Given the description of an element on the screen output the (x, y) to click on. 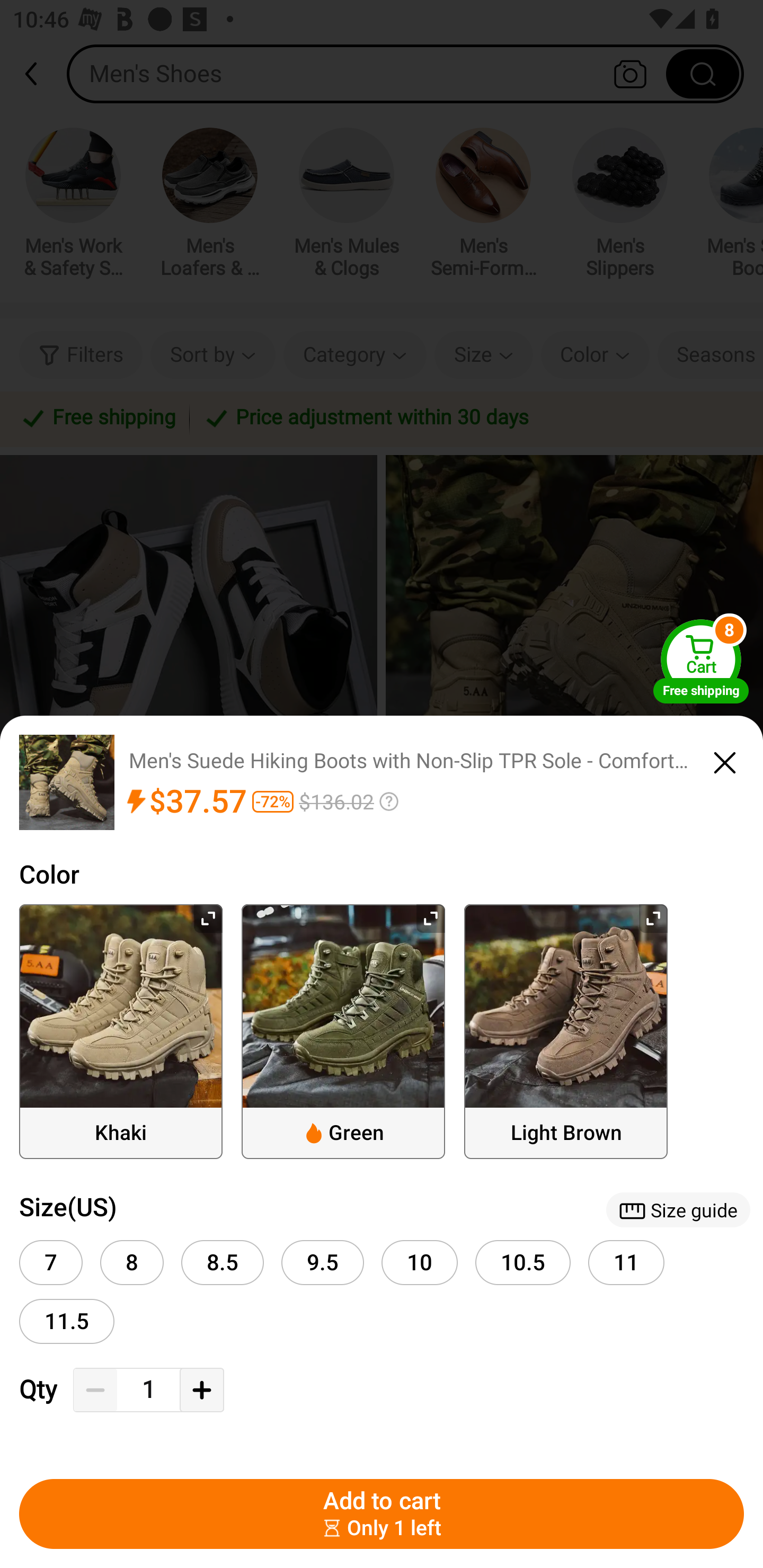
Cart Free shipping Cart (701, 660)
close (724, 760)
Khaki (120, 1031)
Green ￼Green (342, 1031)
Light Brown (565, 1031)
￼Size guide (677, 1209)
 7 (50, 1262)
 8 (131, 1262)
 8.5 (222, 1262)
 9.5 (322, 1262)
 10 (419, 1262)
 10.5 (522, 1262)
 11 (626, 1262)
 11.5 (66, 1320)
Decrease Quantity Button (95, 1389)
Add Quantity Button (201, 1389)
1 (148, 1389)
Add to cart ￼￼Only 1 left (381, 1513)
